Given the description of an element on the screen output the (x, y) to click on. 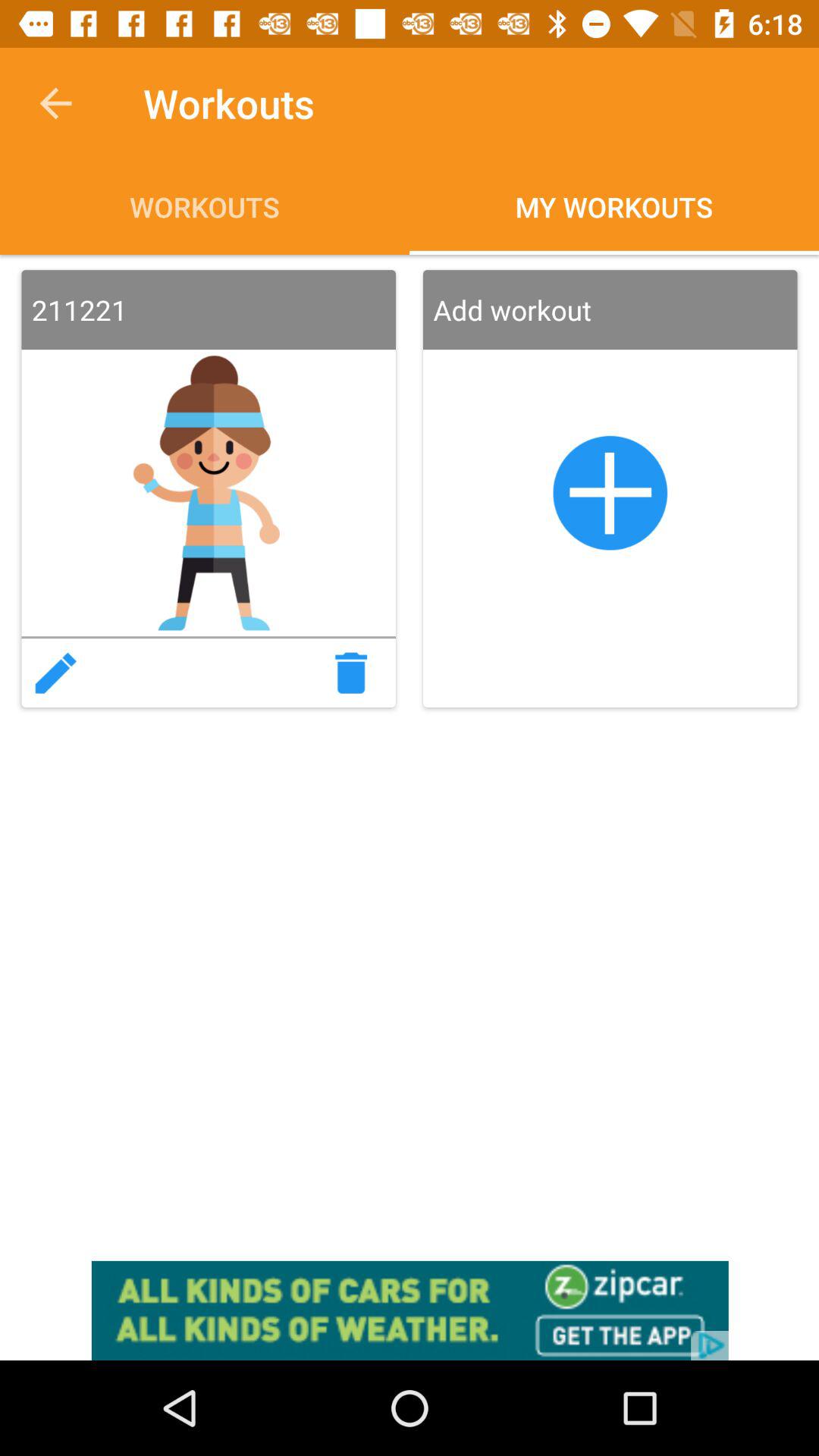
delete (355, 672)
